Given the description of an element on the screen output the (x, y) to click on. 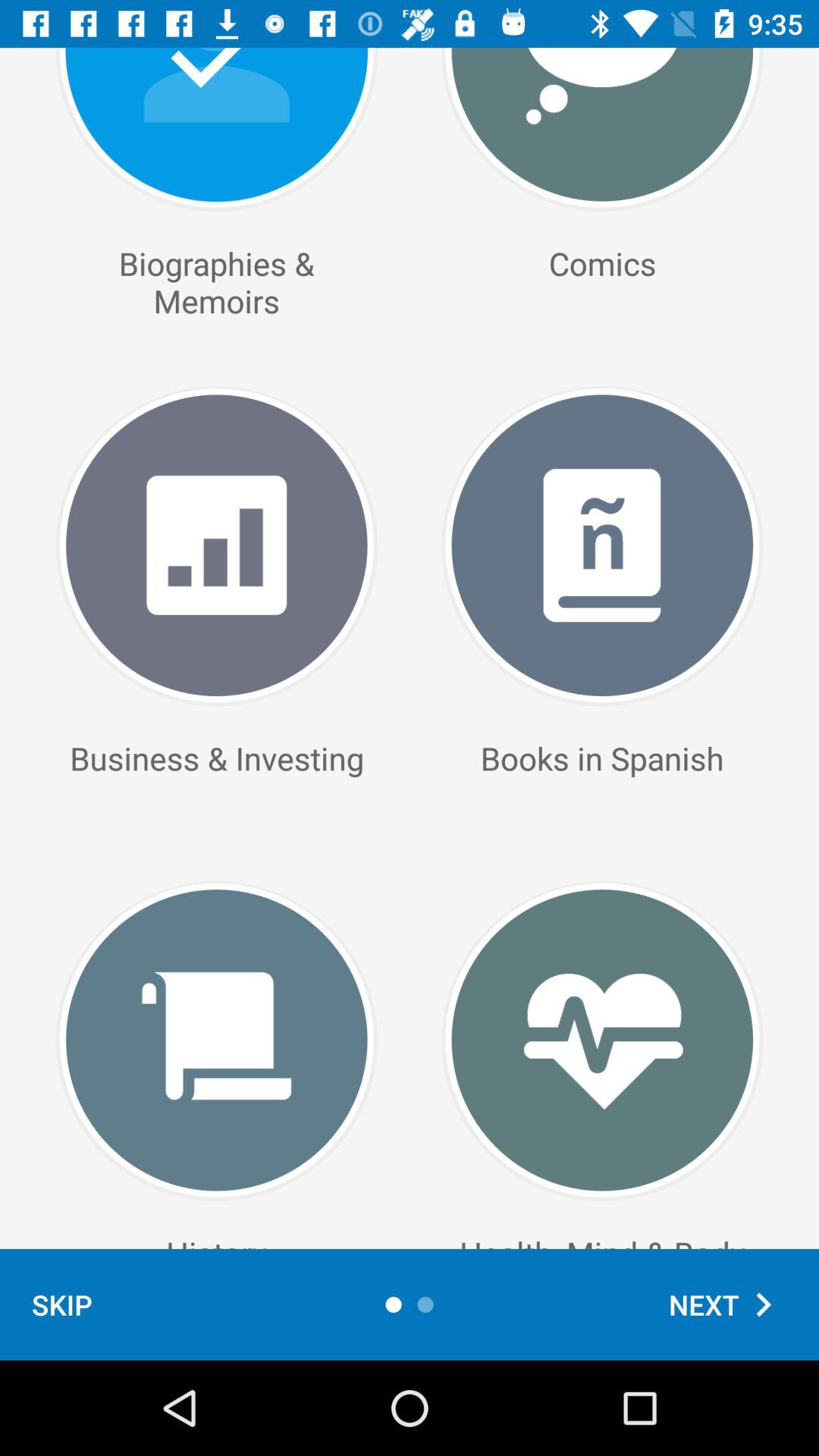
scroll to skip (61, 1304)
